Given the description of an element on the screen output the (x, y) to click on. 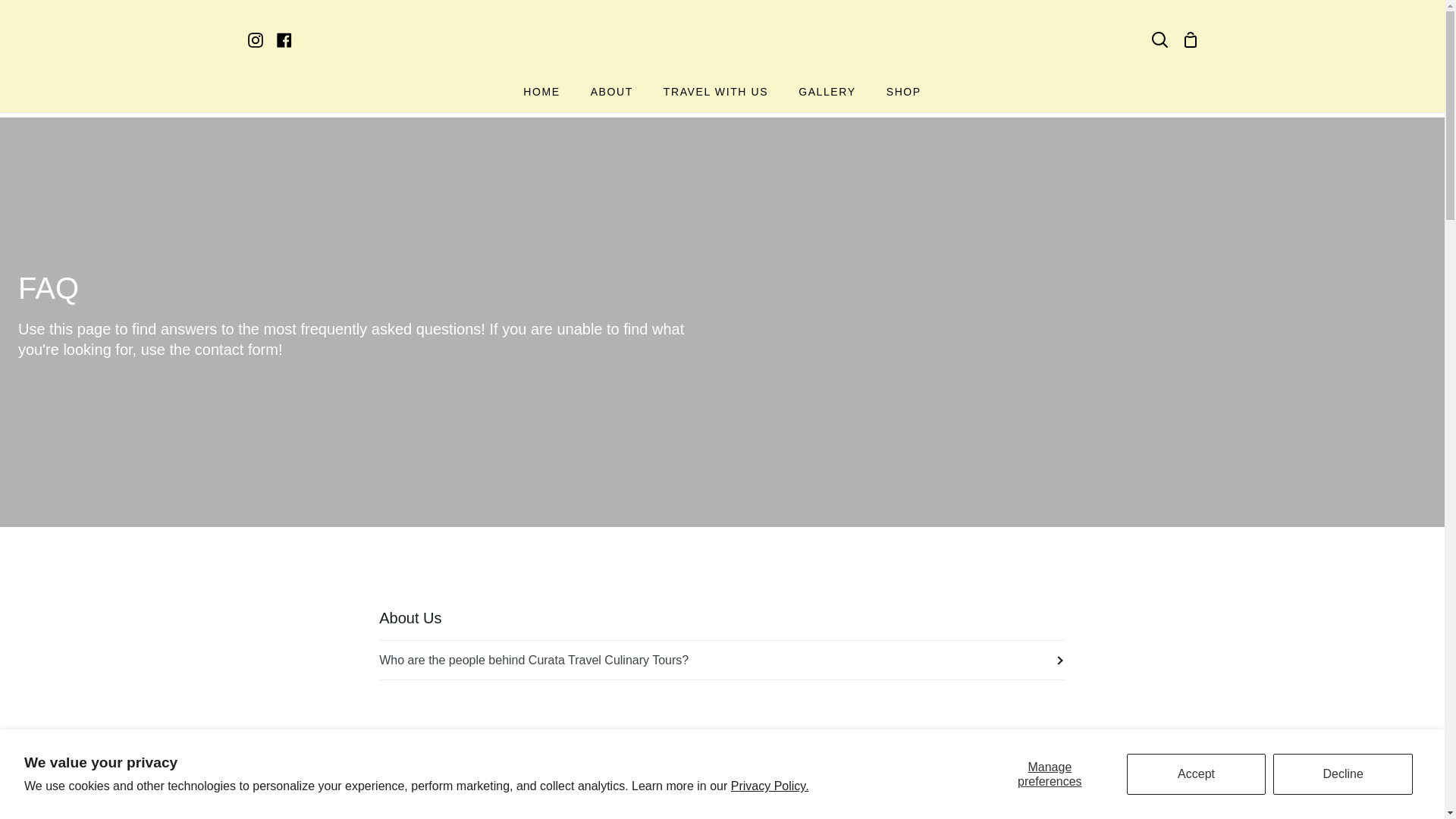
Privacy Policy. (769, 785)
SHOP (903, 94)
TRAVEL WITH US (715, 94)
Decline (1342, 773)
Accept (1196, 773)
ABOUT (611, 94)
GALLERY (826, 94)
Manage preferences (1049, 773)
HOME (541, 94)
